Given the description of an element on the screen output the (x, y) to click on. 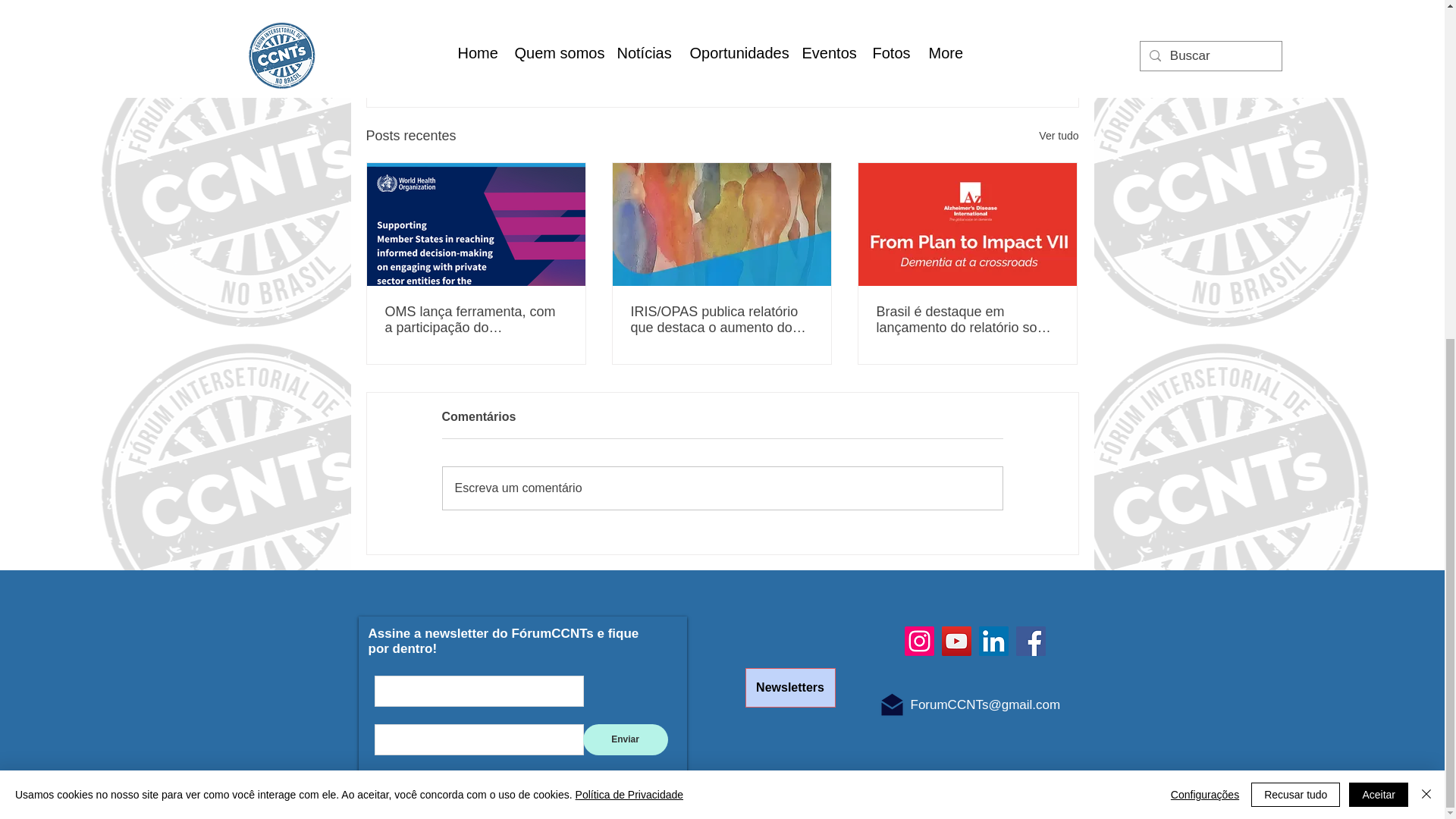
Ver tudo (1058, 136)
